Given the description of an element on the screen output the (x, y) to click on. 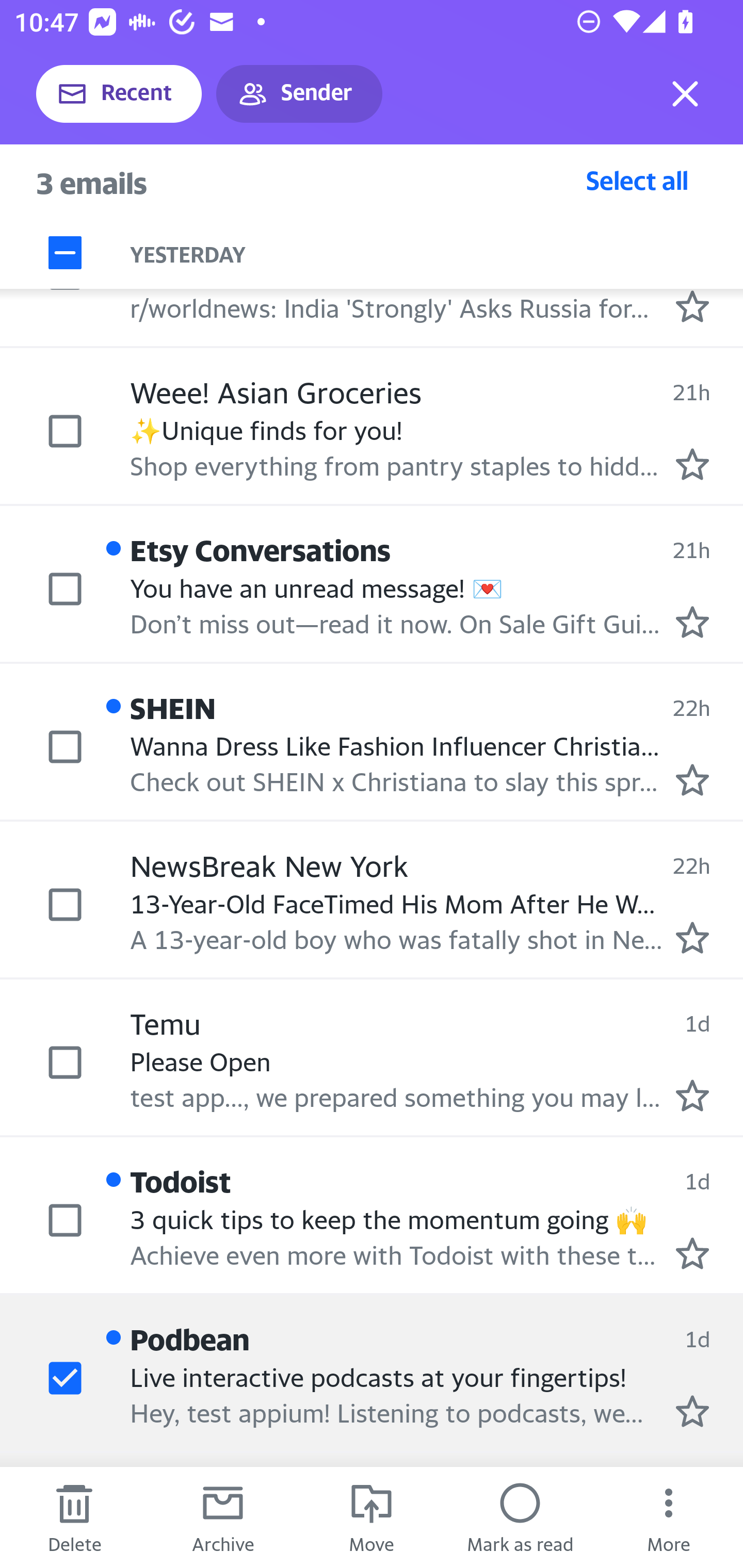
Sender (299, 93)
Exit selection mode (684, 93)
Select all (637, 180)
Mark as starred. (692, 306)
Mark as starred. (692, 464)
Mark as starred. (692, 621)
Mark as starred. (692, 780)
Mark as starred. (692, 938)
Mark as starred. (692, 1095)
Mark as starred. (692, 1253)
Mark as starred. (692, 1411)
Delete (74, 1517)
Archive (222, 1517)
Move (371, 1517)
Mark as read (519, 1517)
More (668, 1517)
